Given the description of an element on the screen output the (x, y) to click on. 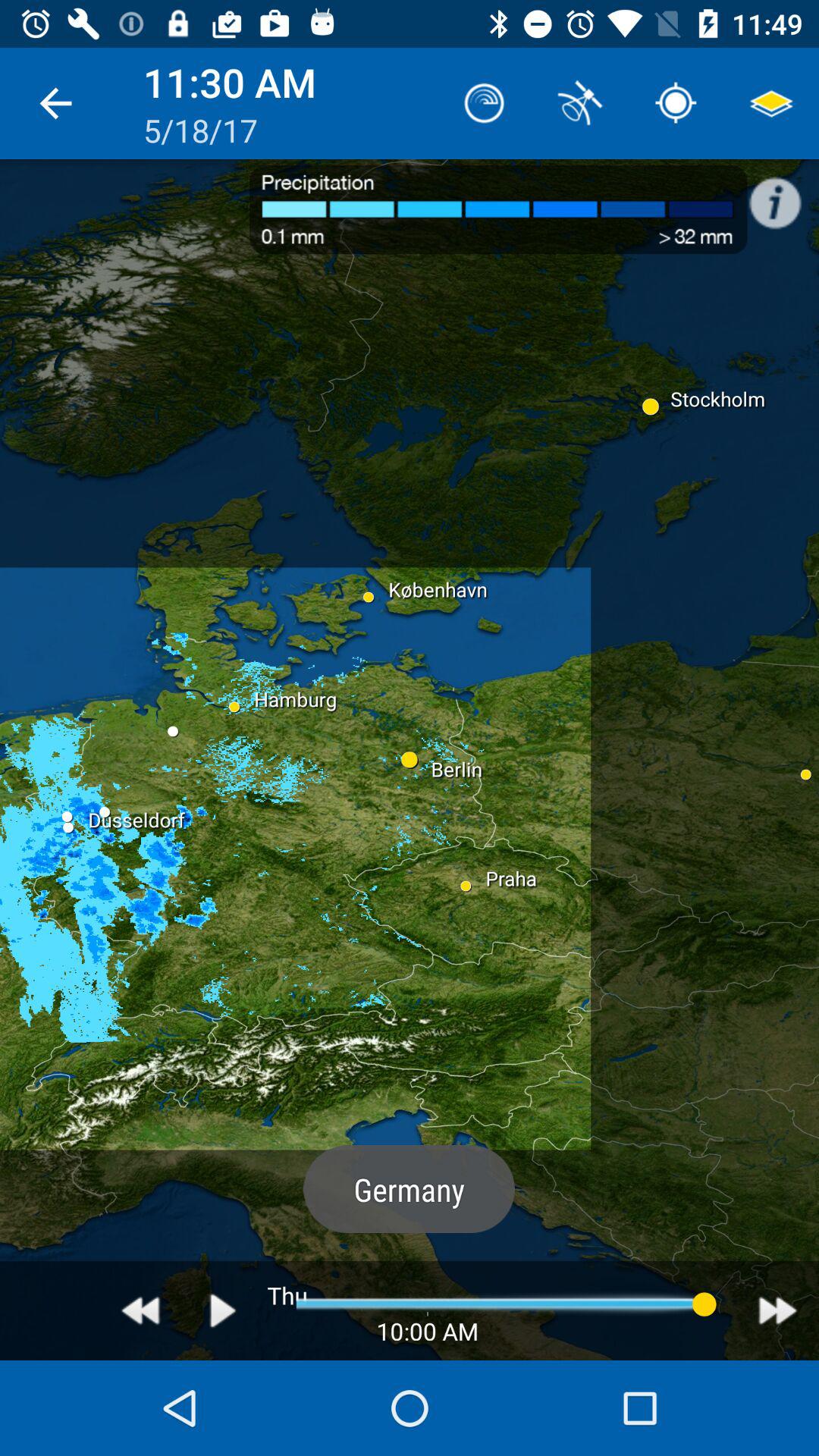
tap icon next to the 11:30 am item (55, 103)
